Given the description of an element on the screen output the (x, y) to click on. 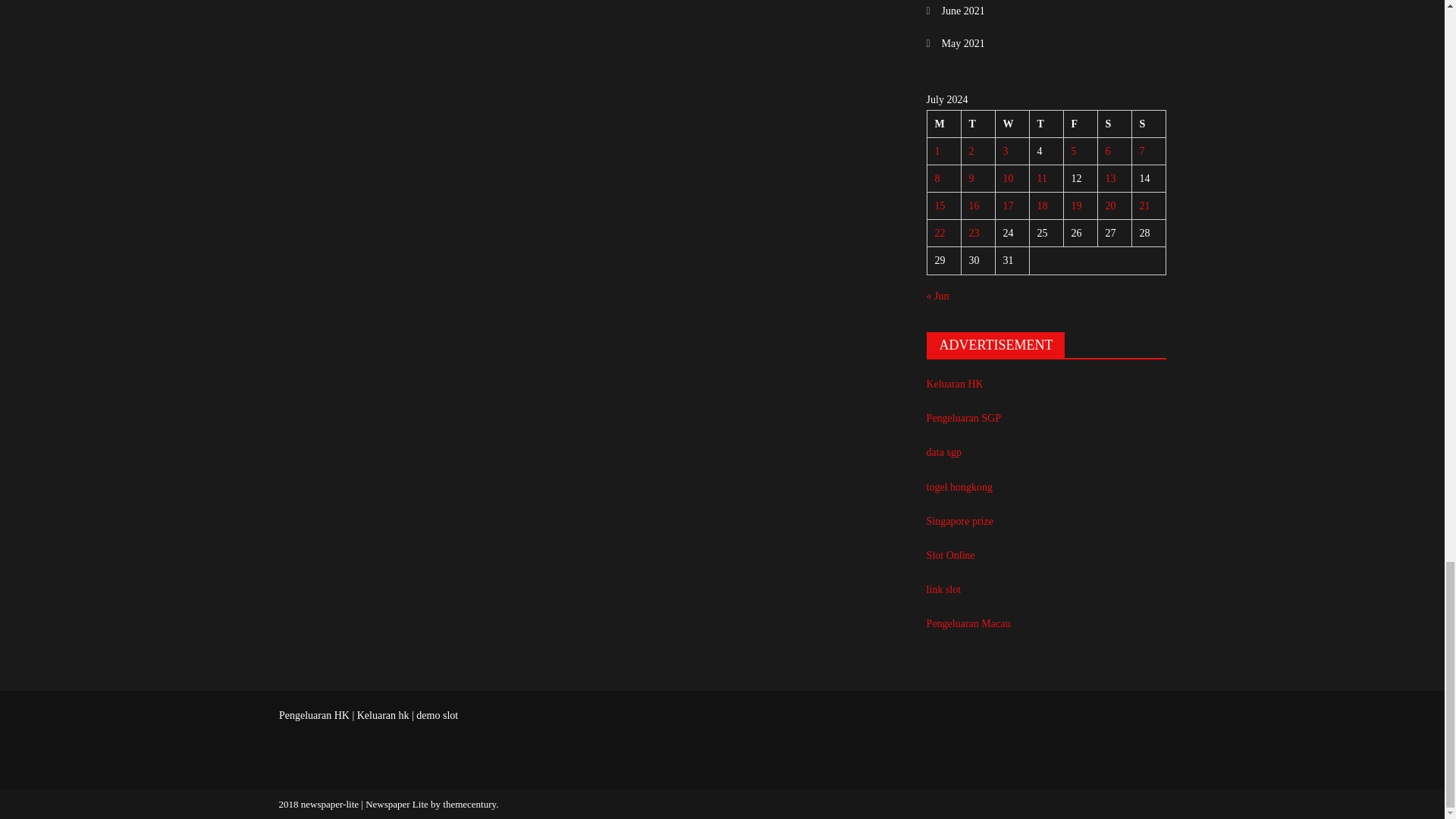
Monday (943, 123)
Thursday (1045, 123)
Friday (1079, 123)
Wednesday (1011, 123)
Tuesday (977, 123)
Sunday (1148, 123)
Saturday (1114, 123)
